Given the description of an element on the screen output the (x, y) to click on. 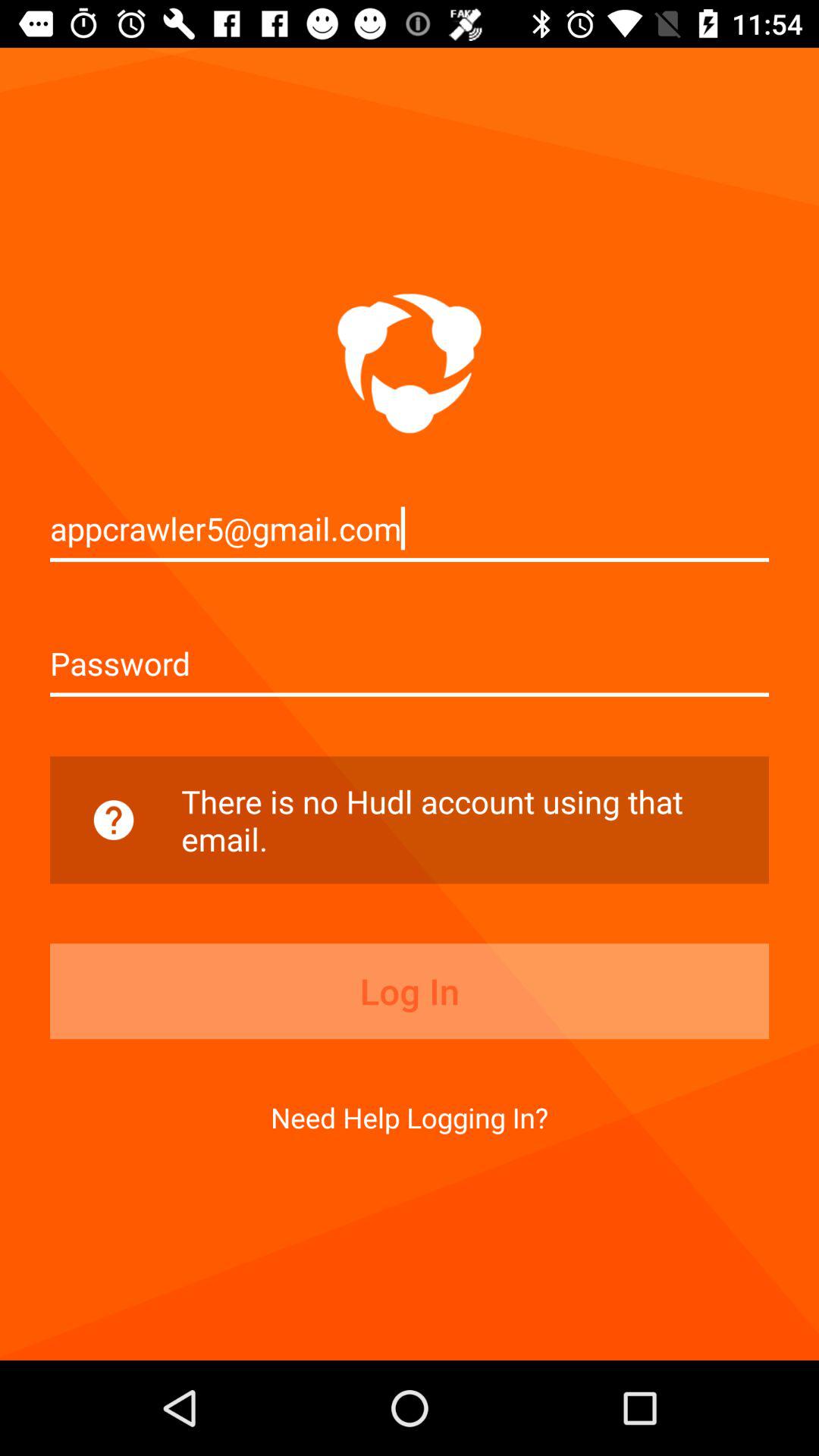
launch the icon above need help logging item (409, 991)
